Given the description of an element on the screen output the (x, y) to click on. 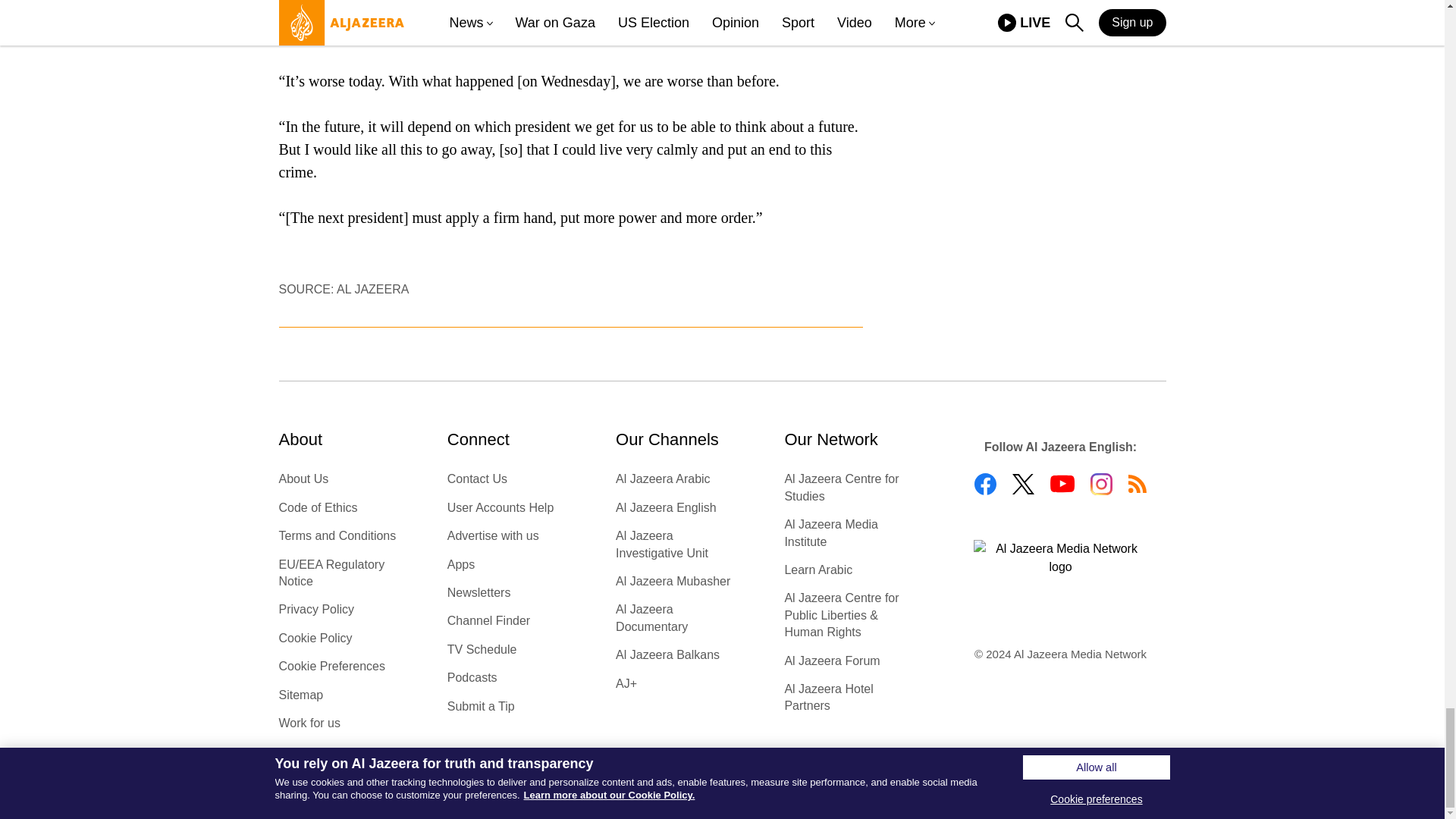
twitter (1022, 484)
facebook (984, 484)
youtube (1061, 483)
instagram-colored-outline (1101, 484)
rss (1137, 484)
